Given the description of an element on the screen output the (x, y) to click on. 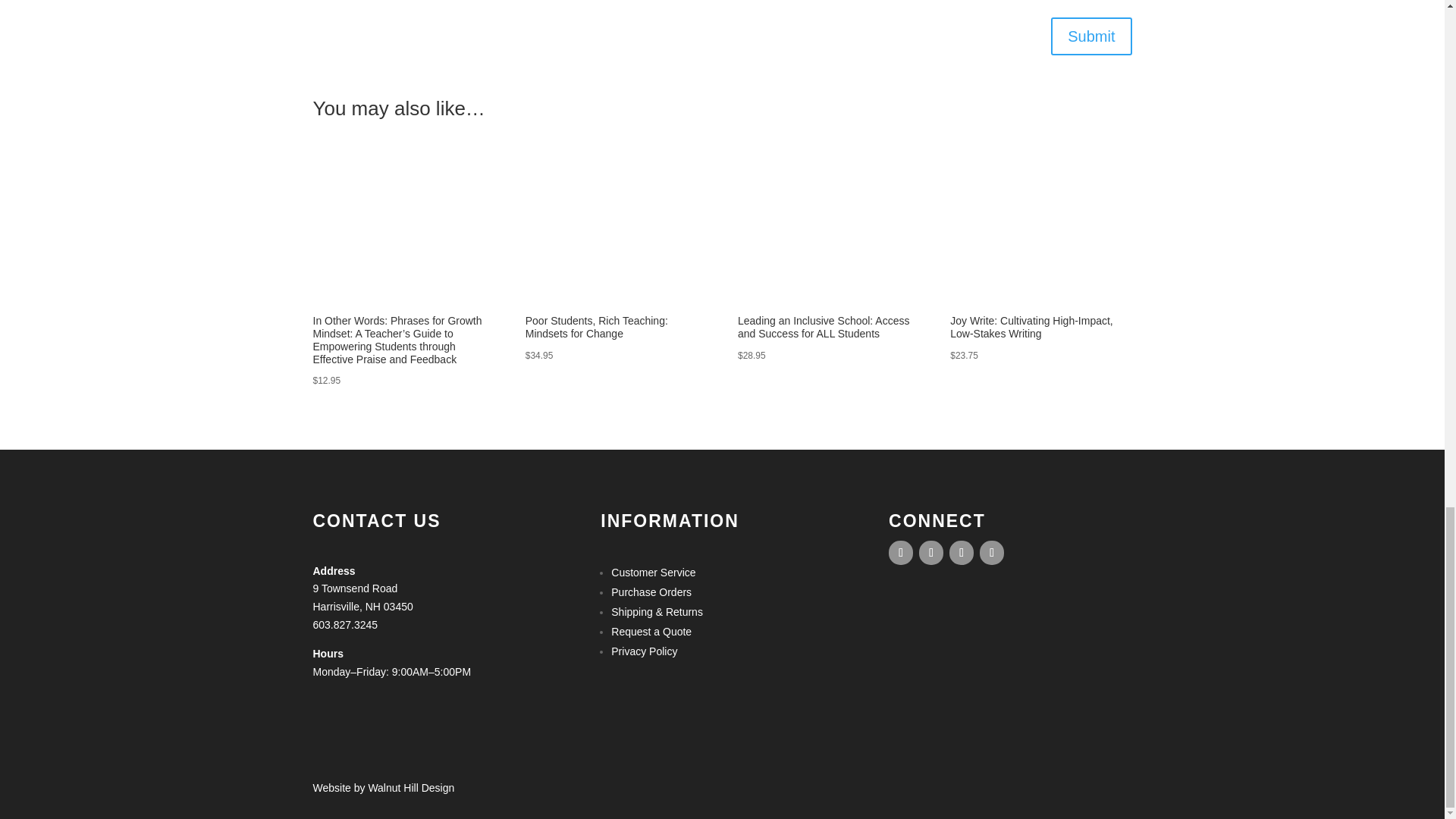
Follow on Facebook (900, 552)
Follow on Buffer (991, 552)
Follow on Instagram (930, 552)
Follow on Youtube (961, 552)
